Given the description of an element on the screen output the (x, y) to click on. 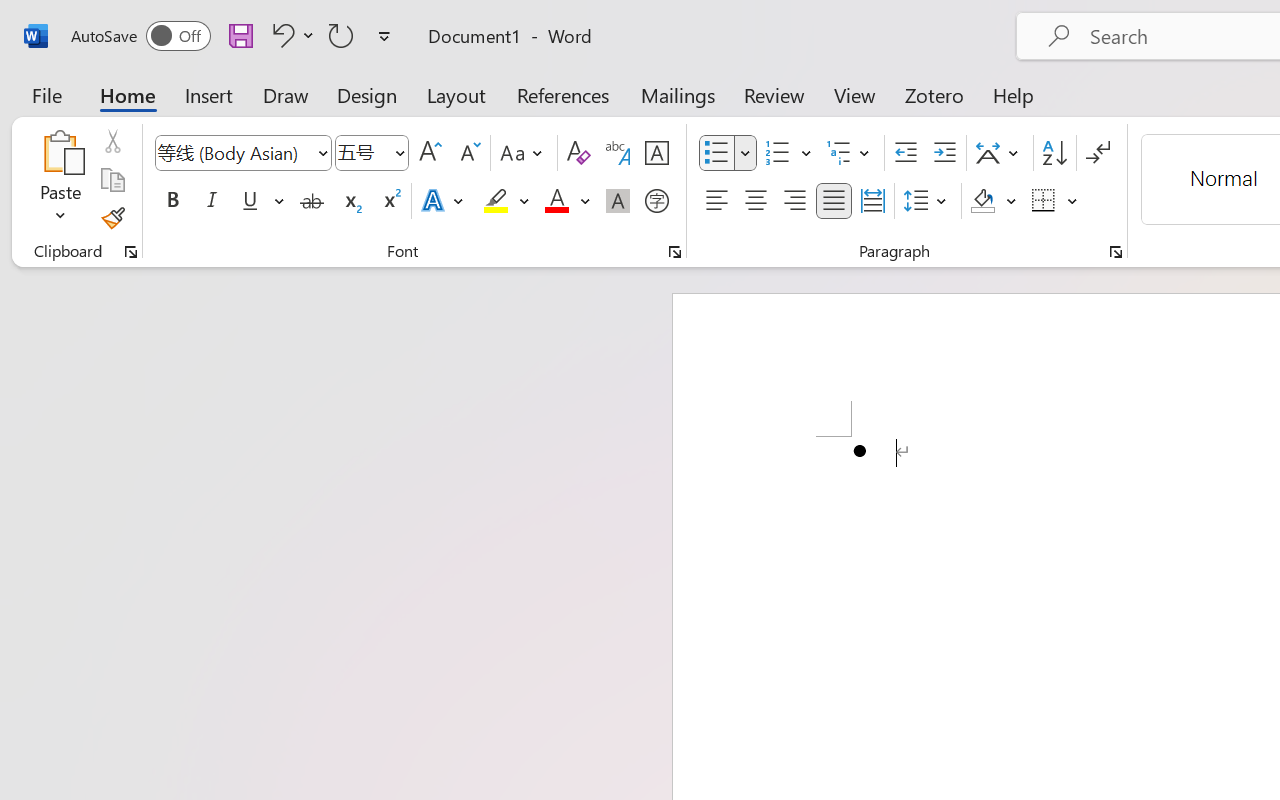
Repeat Bullet Default (341, 35)
